Given the description of an element on the screen output the (x, y) to click on. 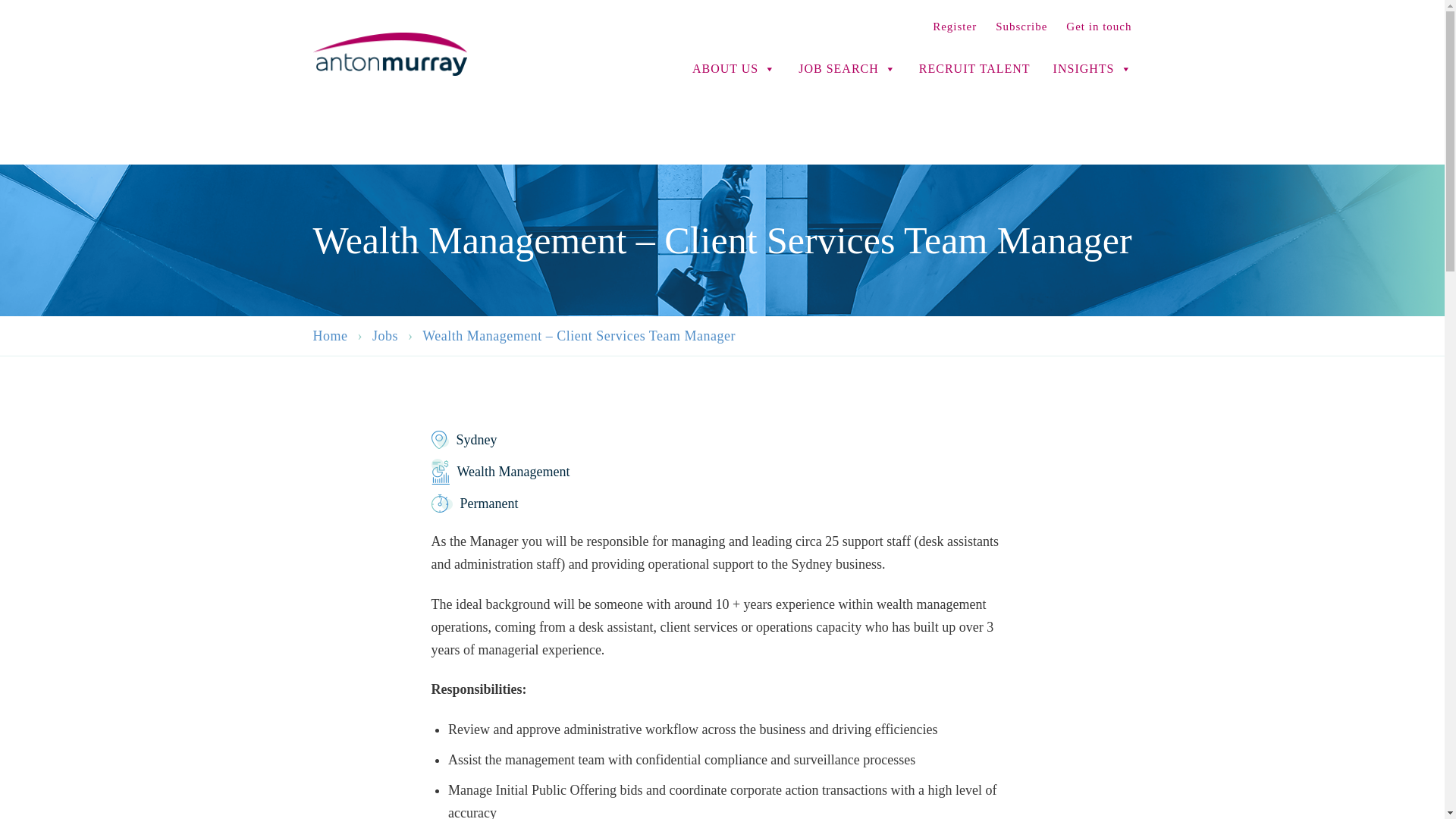
ABOUT US (734, 57)
Get in touch (1098, 26)
JOB SEARCH (847, 57)
Register (954, 26)
Subscribe (1020, 26)
